Given the description of an element on the screen output the (x, y) to click on. 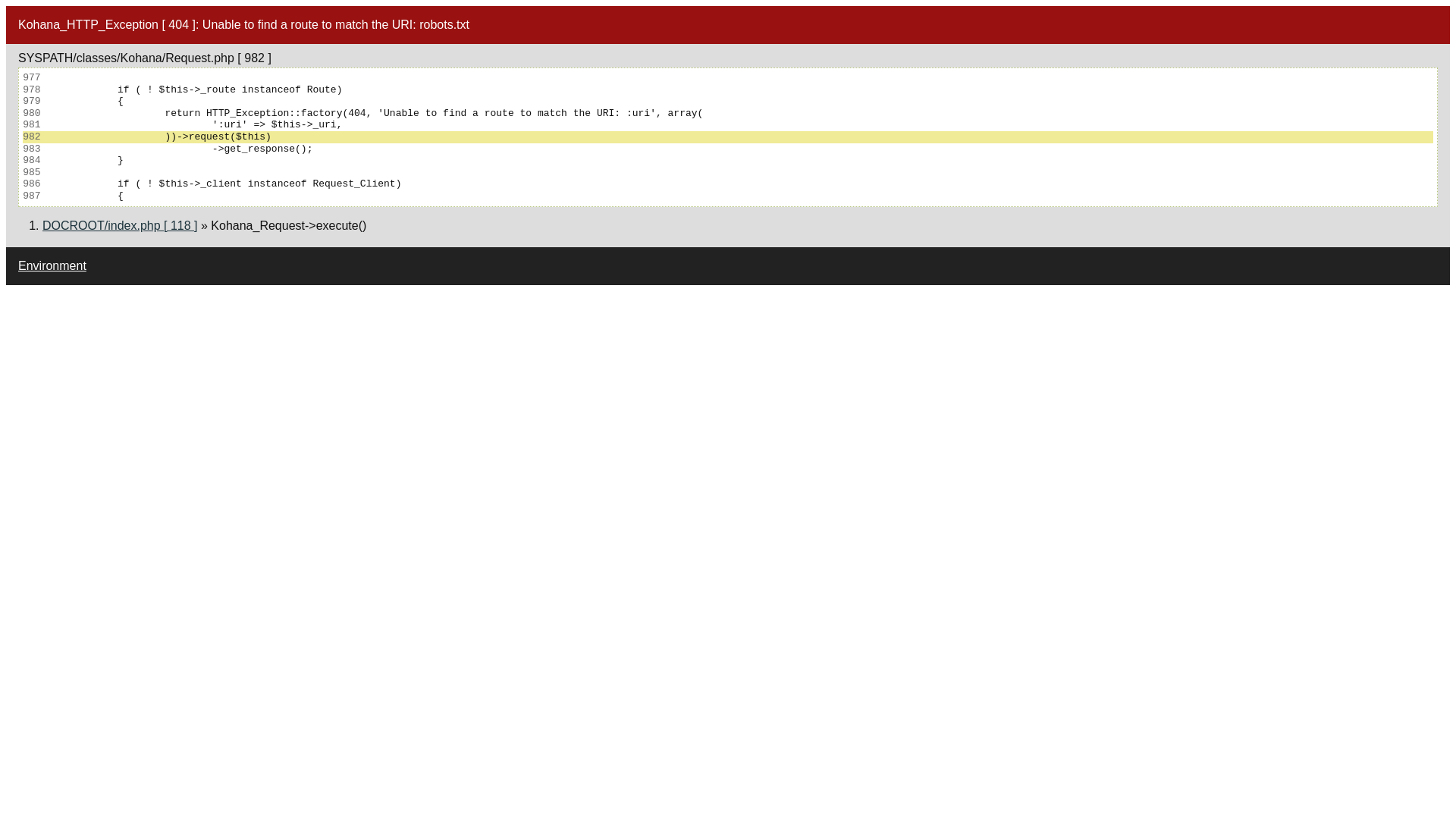
Environment Element type: text (52, 265)
DOCROOT/index.php [ 118 ] Element type: text (119, 225)
